Given the description of an element on the screen output the (x, y) to click on. 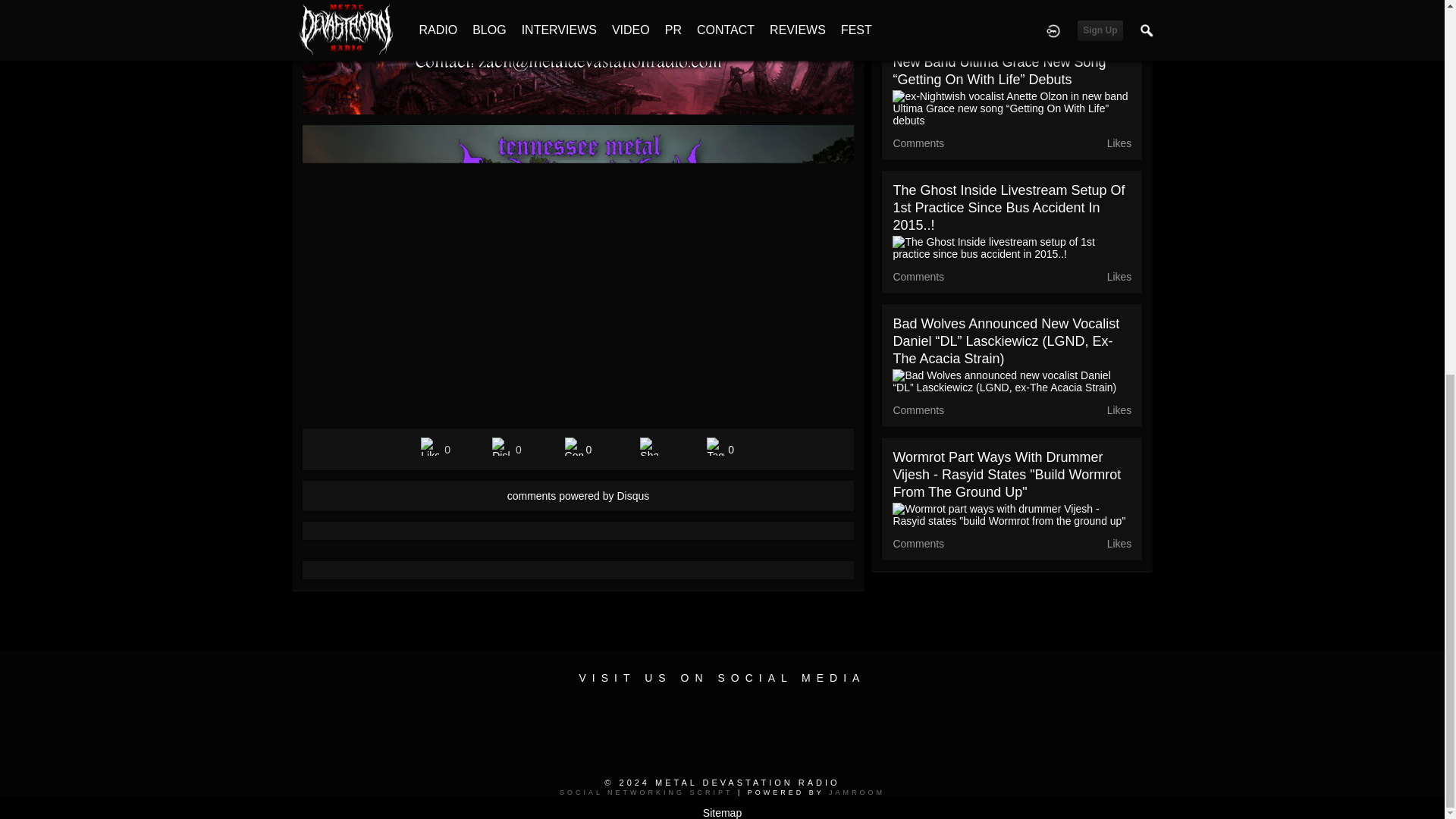
Like (429, 446)
Post Your Comment (573, 446)
Dislike (501, 446)
Tag (715, 446)
Share This with your Followers (649, 446)
